Given the description of an element on the screen output the (x, y) to click on. 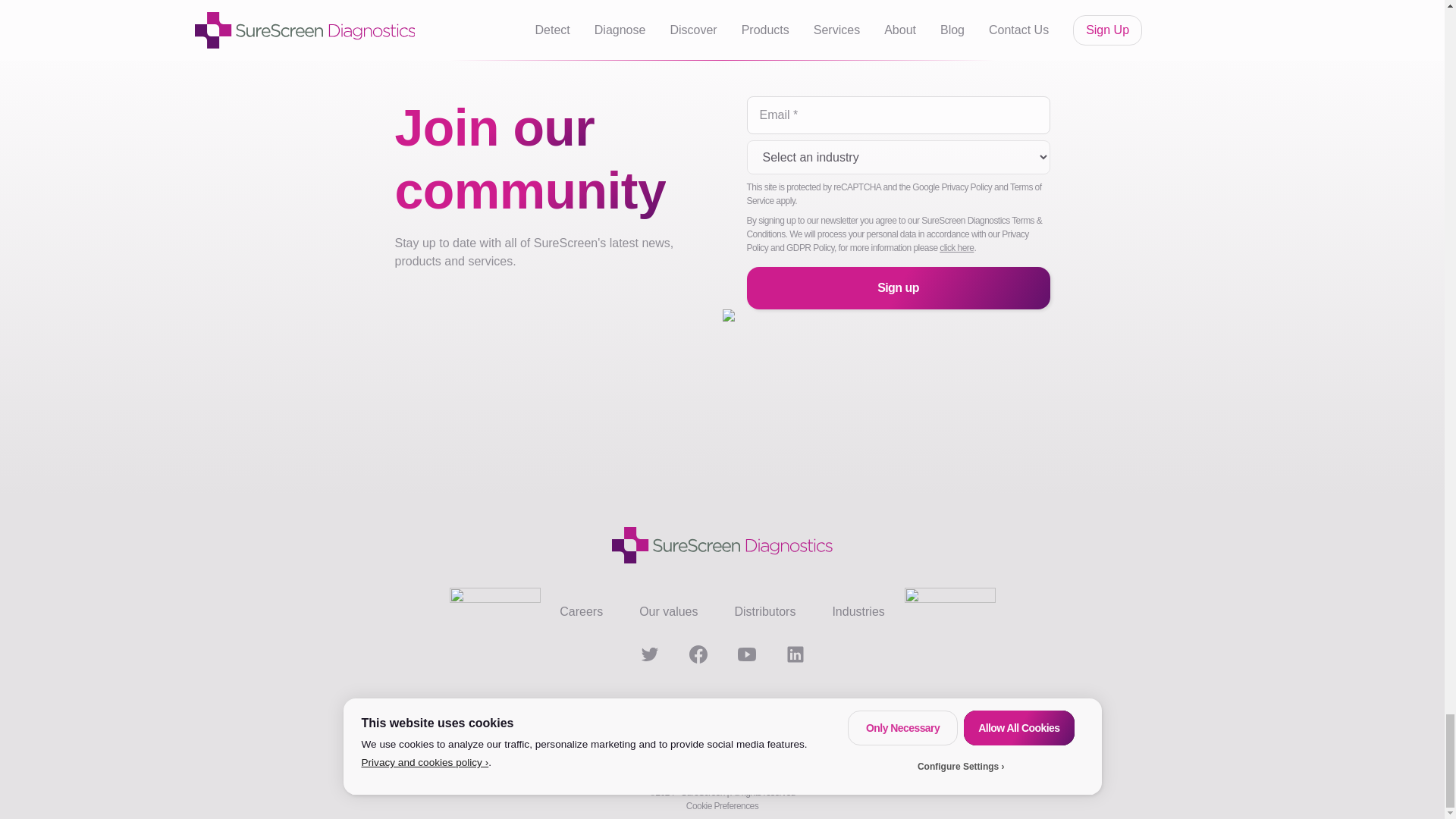
SureScreen Diagnostics : Home (721, 545)
